Given the description of an element on the screen output the (x, y) to click on. 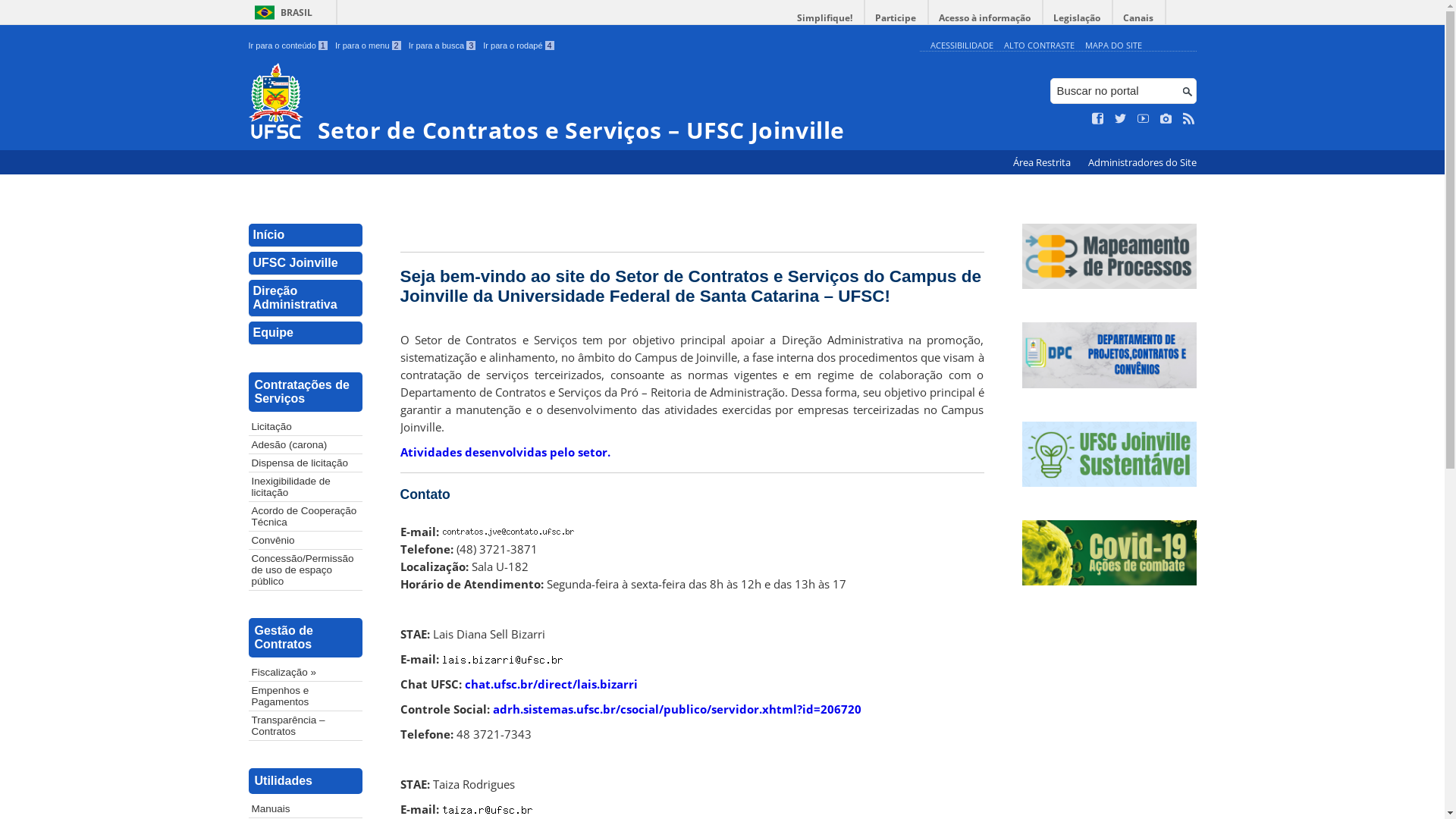
ACESSIBILIDADE Element type: text (960, 44)
Participe Element type: text (895, 18)
Simplifique! Element type: text (825, 18)
Veja no Instagram Element type: hover (1166, 118)
Equipe Element type: text (305, 333)
Empenhos e Pagamentos Element type: text (305, 695)
Manuais Element type: text (305, 808)
MAPA DO SITE Element type: text (1112, 44)
UFSC Joinville Element type: text (305, 263)
Atividades desenvolvidas pelo setor. Element type: text (505, 451)
Siga no Twitter Element type: hover (1120, 118)
Administradores do Site Element type: text (1141, 162)
Ir para o menu 2 Element type: text (368, 45)
chat.ufsc.br/direct/lais.bizarri Element type: text (550, 683)
Canais Element type: text (1138, 18)
Curta no Facebook Element type: hover (1098, 118)
BRASIL Element type: text (280, 12)
ALTO CONTRASTE Element type: text (1039, 44)
Ir para a busca 3 Element type: text (442, 45)
